Given the description of an element on the screen output the (x, y) to click on. 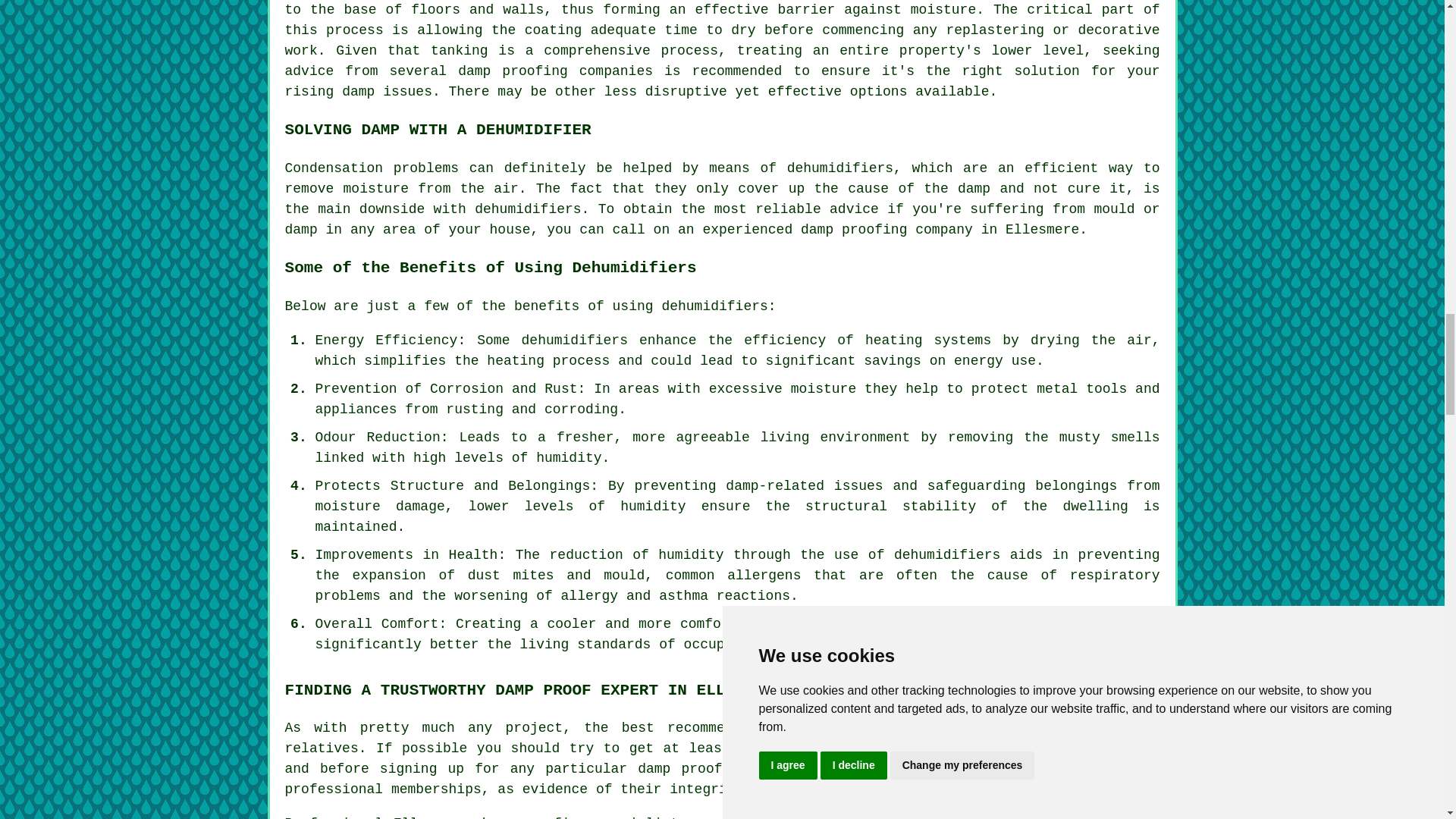
damp issues (387, 91)
moisture (823, 388)
dehumidifiers (574, 340)
